Given the description of an element on the screen output the (x, y) to click on. 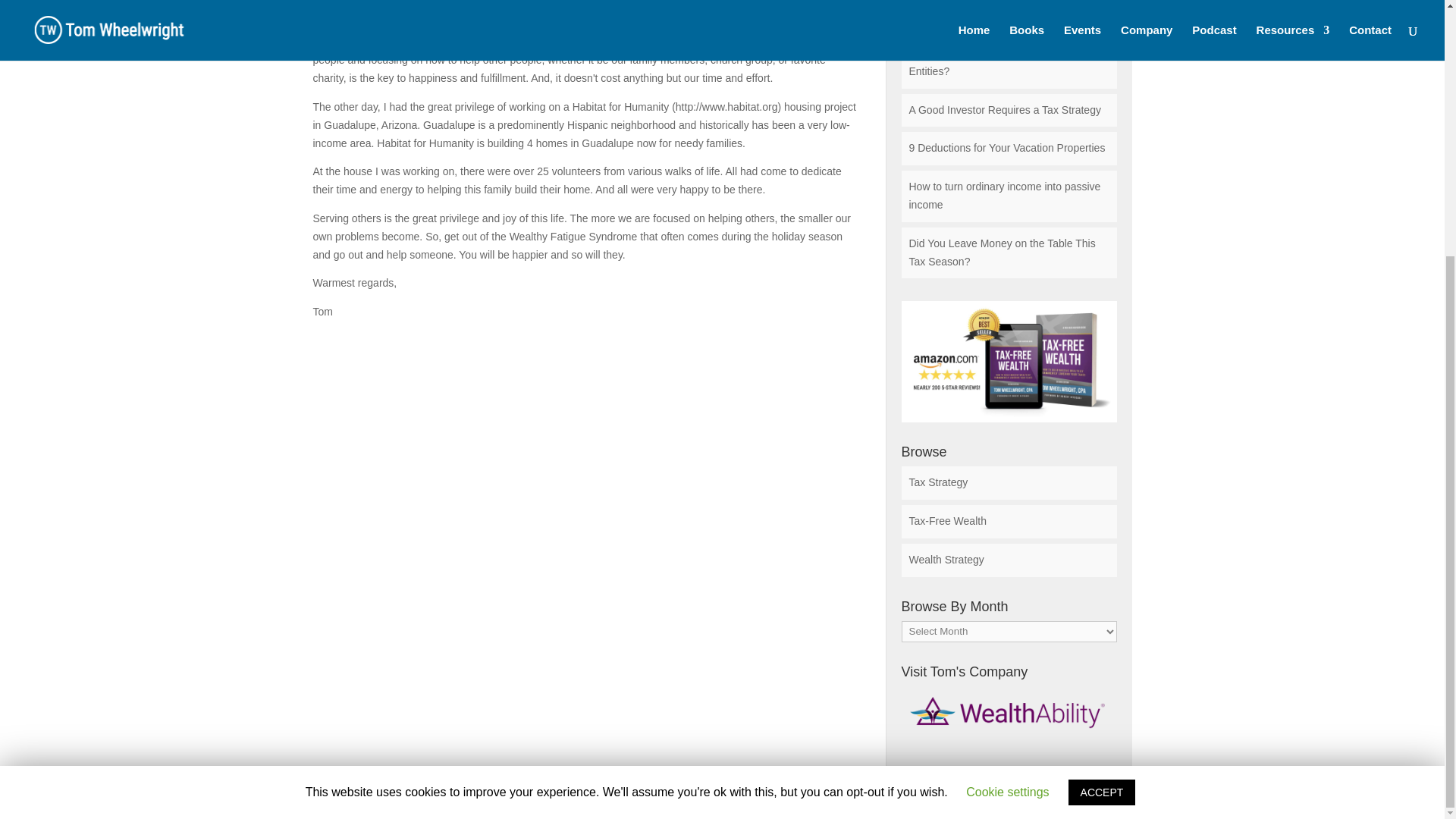
Tax-Free Wealth (946, 521)
How to turn ordinary income into passive income (1004, 195)
Tax Strategy (938, 481)
9 Deductions for Your Vacation Properties (1006, 147)
Did You Leave Money on the Table This Tax Season? (1001, 252)
Visit Tom's Company (1008, 713)
A Good Investor Requires a Tax Strategy (1004, 110)
How Soon Should You Form Your Entities? (986, 61)
